Given the description of an element on the screen output the (x, y) to click on. 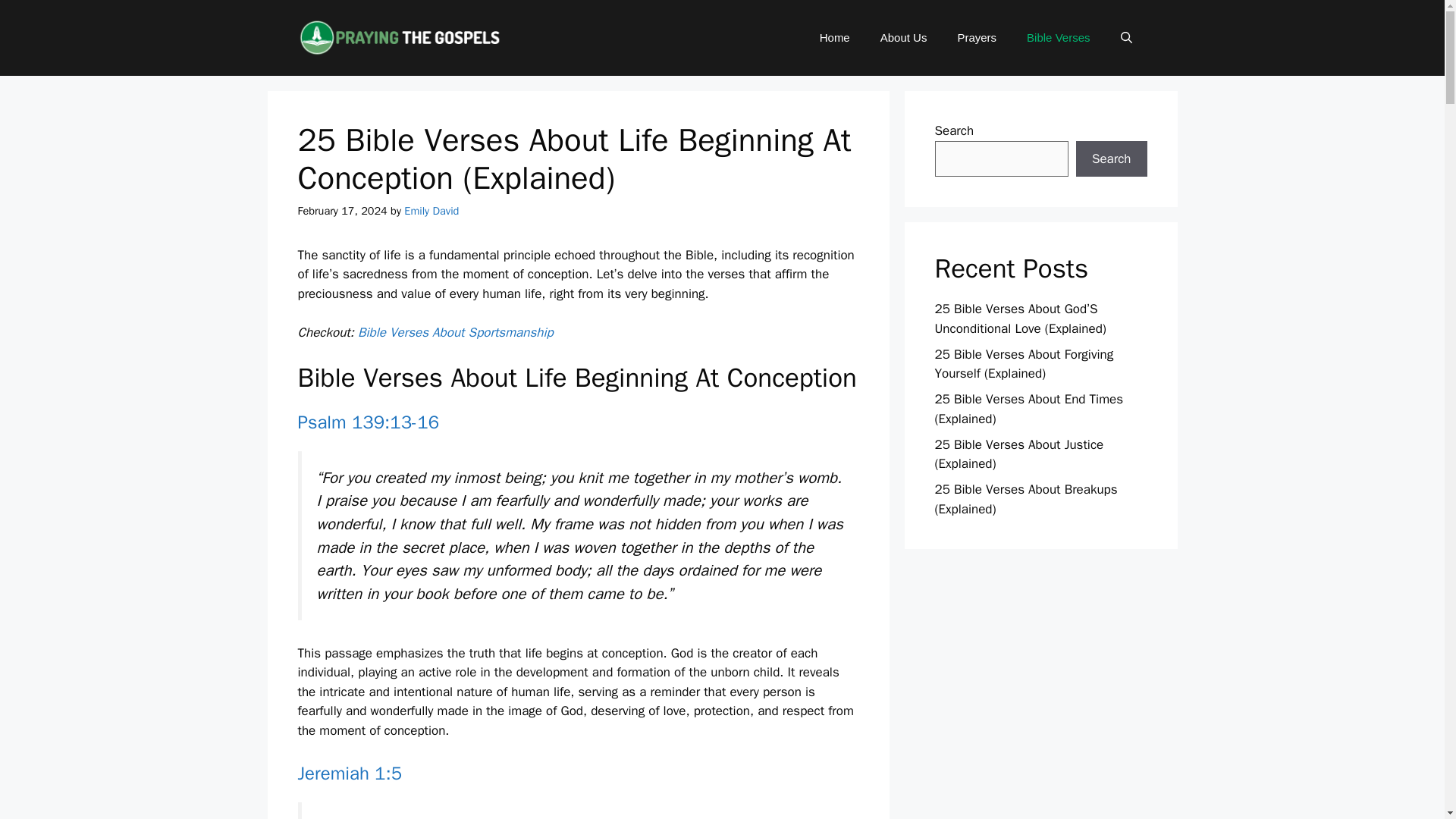
Prayers (976, 37)
Emily David (431, 210)
Psalm 139:13-16 (368, 422)
View all posts by Emily David (431, 210)
About Us (903, 37)
Home (834, 37)
Jeremiah 1:5 (349, 773)
Bible Verses (1058, 37)
Bible Verses About Sportsmanship (455, 332)
